Given the description of an element on the screen output the (x, y) to click on. 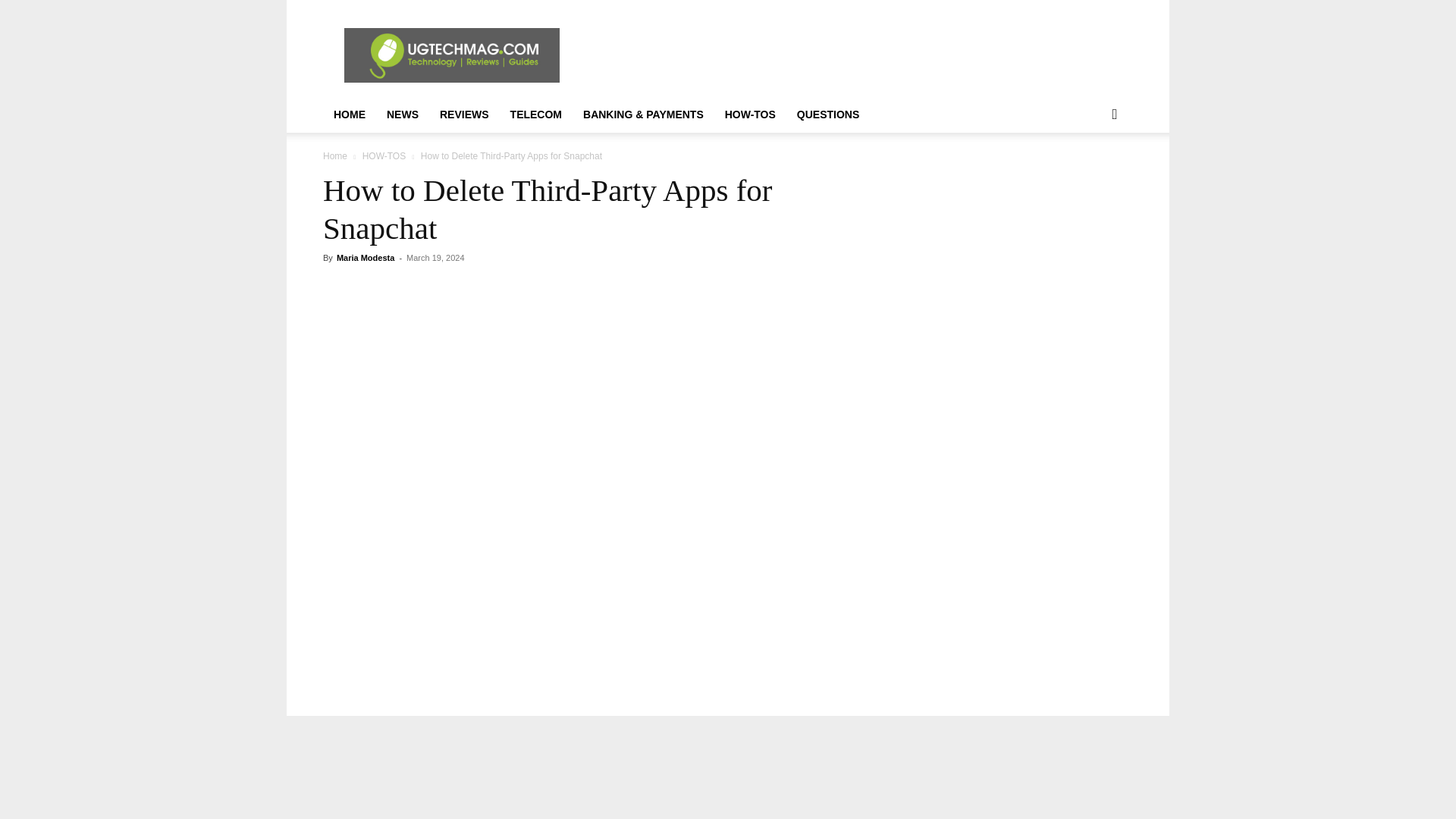
Search (1091, 174)
HOW-TOS (750, 114)
Home (335, 155)
HOW-TOS (384, 155)
Maria Modesta (365, 257)
QUESTIONS (827, 114)
HOME (349, 114)
TELECOM (535, 114)
REVIEWS (464, 114)
View all posts in HOW-TOS (384, 155)
